Given the description of an element on the screen output the (x, y) to click on. 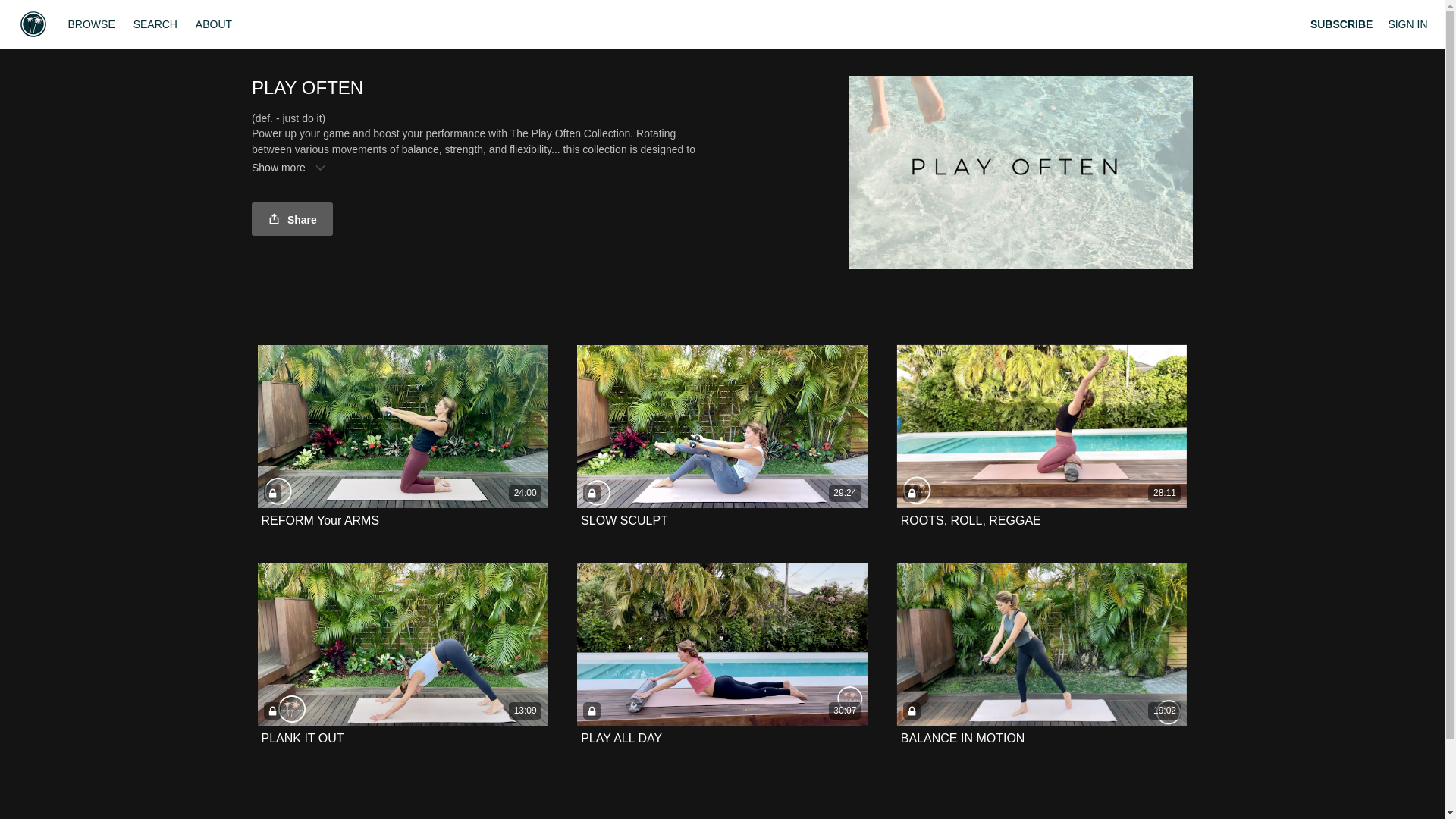
SLOW SCULPT (624, 521)
ROOTS, ROLL, REGGAE (971, 520)
BALANCE IN MOTION  (963, 738)
PLANK IT OUT (301, 738)
PLAY ALL DAY (621, 738)
24:00 (402, 425)
29:24 (721, 425)
Share (292, 218)
BALANCE IN MOTION (963, 738)
SEARCH (156, 24)
ABOUT (213, 24)
BROWSE (93, 24)
REFORM Your ARMS (319, 521)
REFORM Your ARMS (319, 520)
PLANK IT OUT (301, 738)
